Given the description of an element on the screen output the (x, y) to click on. 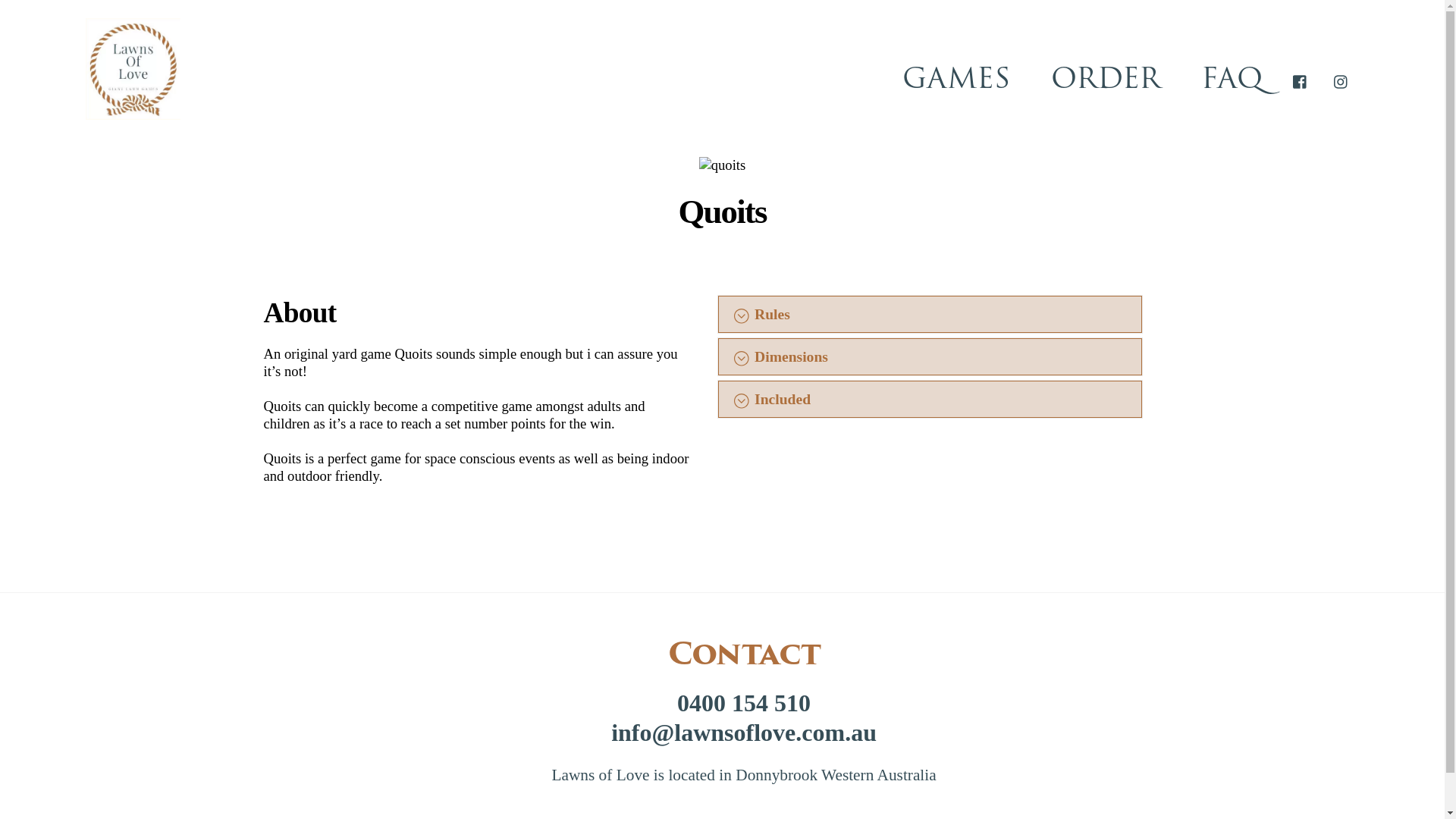
GAMES Element type: text (955, 78)
FAQ Element type: text (1231, 78)
logo Element type: hover (131, 68)
info@lawnsoflove.com.au Element type: text (743, 732)
Dimensions Element type: text (929, 356)
ORDER Element type: text (1104, 78)
Rules Element type: text (929, 314)
quoits Element type: hover (722, 164)
0400 154 510 Element type: text (743, 702)
Included Element type: text (929, 399)
Lawns of Love Element type: hover (131, 111)
